Given the description of an element on the screen output the (x, y) to click on. 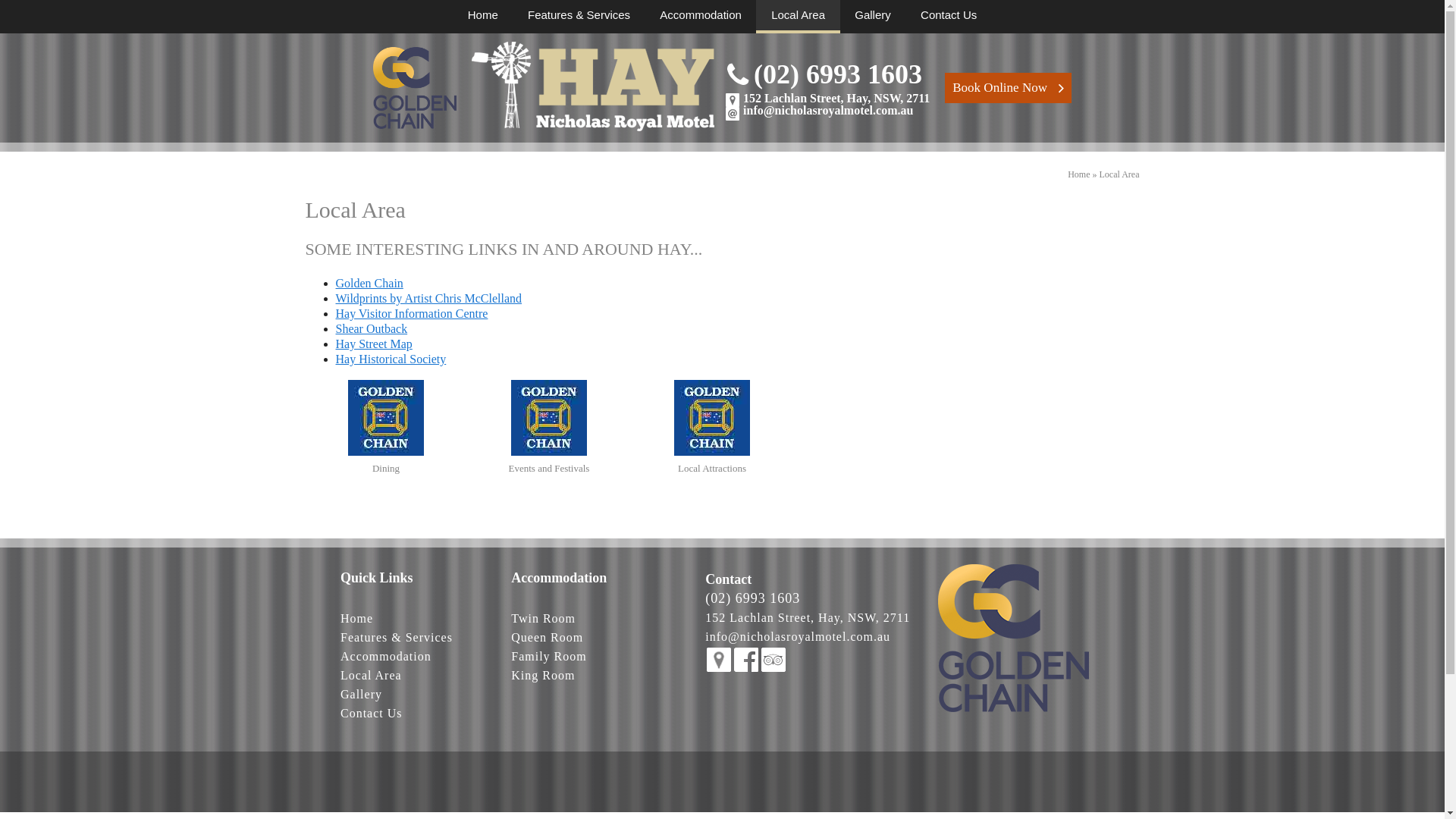
Golden Chain Element type: text (368, 282)
Hay Visitor Information Centre Element type: text (411, 313)
Location Icon Element type: hover (732, 99)
Google Maps Location Element type: hover (718, 659)
Read traveler reviews on TripAdvisor Element type: hover (773, 659)
Local Area Element type: text (1119, 174)
Nicholas Royal Motel Element type: hover (737, 74)
Home Element type: text (482, 15)
Contact Us Element type: text (948, 15)
Gallery Element type: text (872, 15)
Queen Room Element type: text (547, 636)
Contact Us Element type: text (371, 712)
Local Area Element type: text (798, 16)
King Room Element type: text (542, 674)
Gallery Element type: text (361, 693)
Features & Services Element type: text (578, 15)
Nicholas Royal Motel Element type: hover (1013, 637)
Twin Room Element type: text (543, 617)
Nicholas Royal Motel Element type: hover (592, 86)
Shear Outback Element type: text (371, 328)
Book Online Now Element type: text (1007, 87)
Home Element type: text (1078, 174)
152 Lachlan Street, Hay, NSW, 2711 Element type: text (836, 98)
Nicholas Royal Motel Element type: hover (414, 87)
Local Area Element type: text (370, 674)
Hay Historical Society Element type: text (390, 358)
Events and Festivals Element type: text (548, 426)
Like us on Facebook Element type: hover (745, 659)
Wildprints by Artist Chris McClelland Element type: text (428, 297)
(02) 6993 1603 Element type: text (837, 74)
Family Room Element type: text (548, 655)
152 Lachlan Street, Hay, NSW, 2711 Element type: text (807, 617)
Accommodation Element type: text (385, 655)
Features & Services Element type: text (396, 636)
Local Attractions Element type: text (712, 426)
info@nicholasroyalmotel.com.au Element type: text (828, 110)
(02) 6993 1603 Element type: text (752, 597)
Dining Element type: text (385, 426)
info@nicholasroyalmotel.com.au Element type: text (797, 636)
Hay Street Map Element type: text (373, 343)
Nicholas Royal Motel Element type: hover (732, 113)
Home Element type: text (356, 617)
Book Online Now Element type: hover (1060, 88)
Accommodation Element type: text (700, 15)
